Given the description of an element on the screen output the (x, y) to click on. 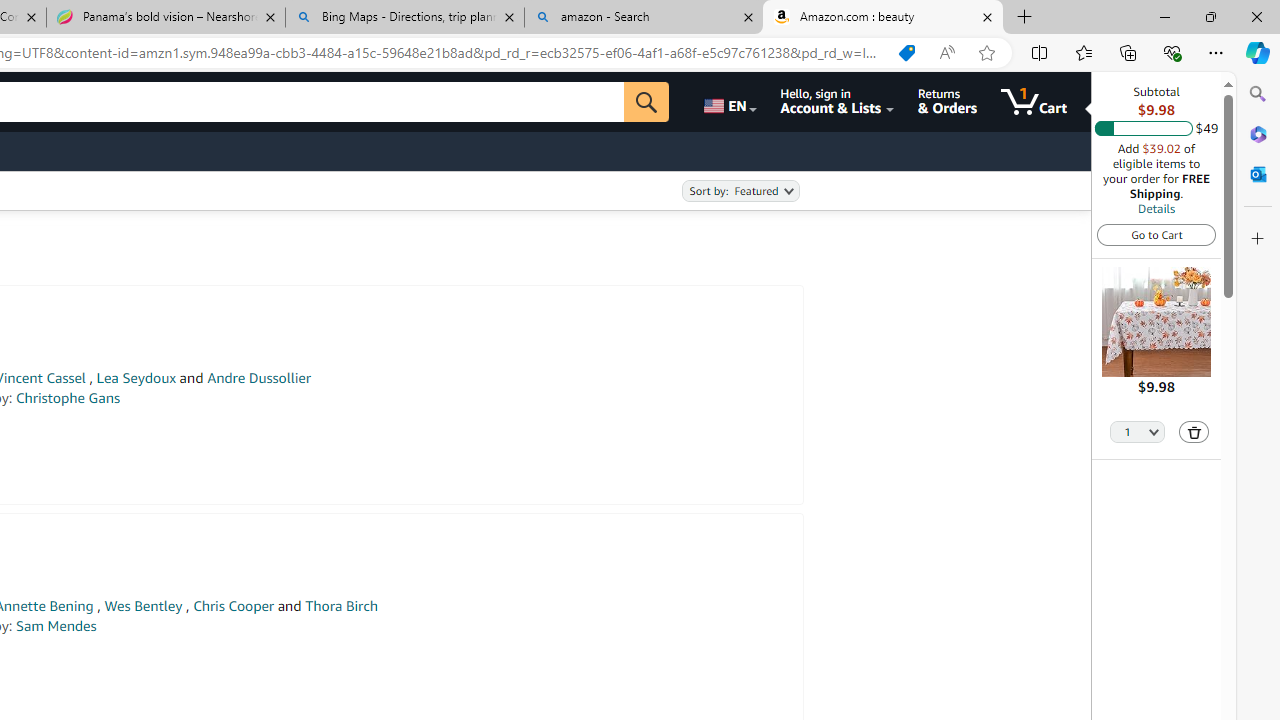
Delete (1194, 431)
Sort by: (740, 191)
Returns & Orders (946, 101)
Shopping in Microsoft Edge (906, 53)
Choose a language for shopping. (728, 101)
